Given the description of an element on the screen output the (x, y) to click on. 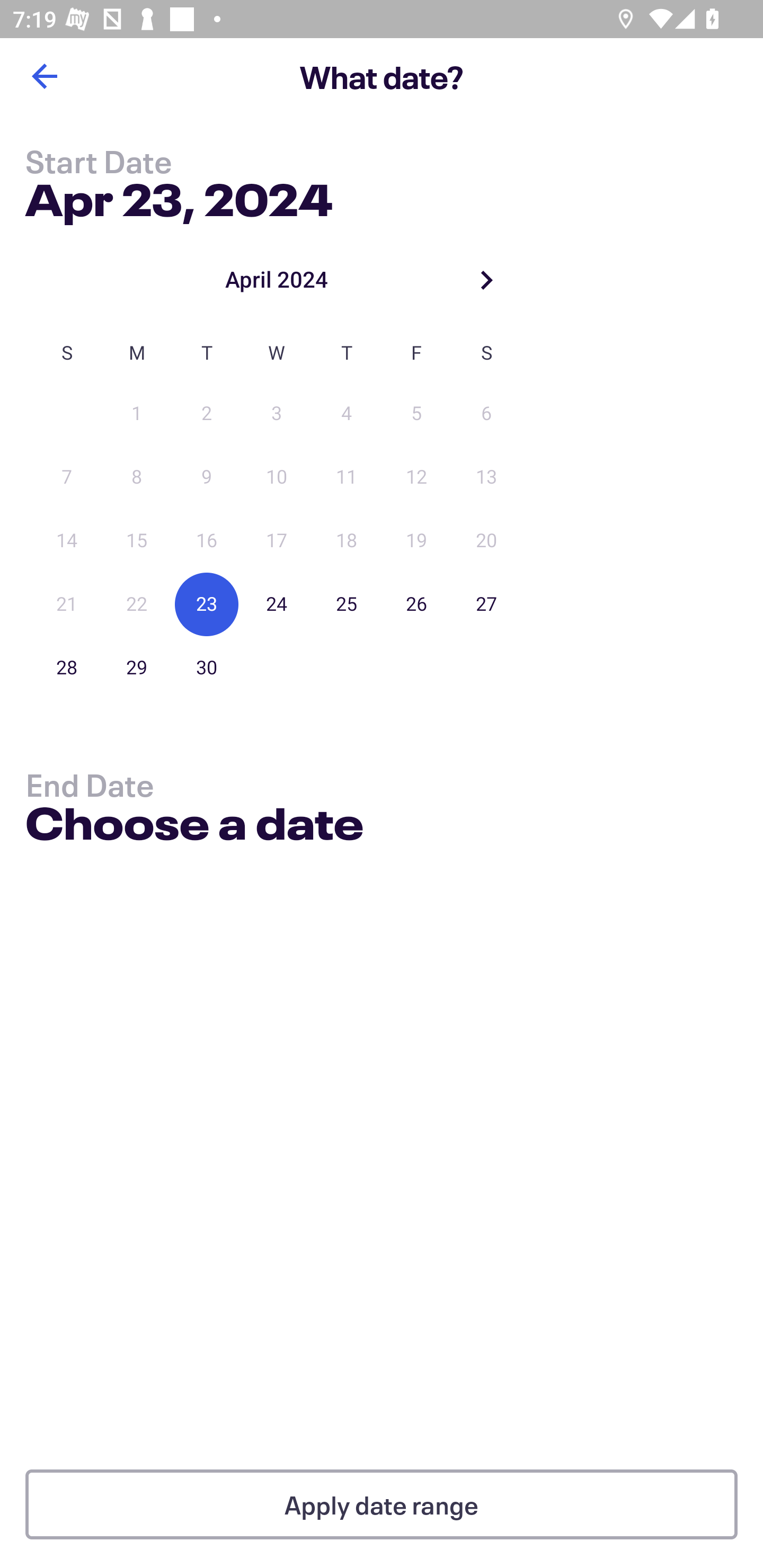
Back button (44, 75)
Apr 23, 2024 (178, 195)
Next month (486, 279)
1 01 April 2024 (136, 413)
2 02 April 2024 (206, 413)
3 03 April 2024 (276, 413)
4 04 April 2024 (346, 413)
5 05 April 2024 (416, 413)
6 06 April 2024 (486, 413)
7 07 April 2024 (66, 477)
8 08 April 2024 (136, 477)
9 09 April 2024 (206, 477)
10 10 April 2024 (276, 477)
11 11 April 2024 (346, 477)
12 12 April 2024 (416, 477)
13 13 April 2024 (486, 477)
14 14 April 2024 (66, 540)
15 15 April 2024 (136, 540)
16 16 April 2024 (206, 540)
17 17 April 2024 (276, 540)
18 18 April 2024 (346, 540)
19 19 April 2024 (416, 540)
20 20 April 2024 (486, 540)
21 21 April 2024 (66, 604)
22 22 April 2024 (136, 604)
23 23 April 2024 (206, 604)
24 24 April 2024 (276, 604)
25 25 April 2024 (346, 604)
26 26 April 2024 (416, 604)
27 27 April 2024 (486, 604)
28 28 April 2024 (66, 667)
29 29 April 2024 (136, 667)
30 30 April 2024 (206, 667)
Choose a date (194, 826)
Apply date range (381, 1504)
